Given the description of an element on the screen output the (x, y) to click on. 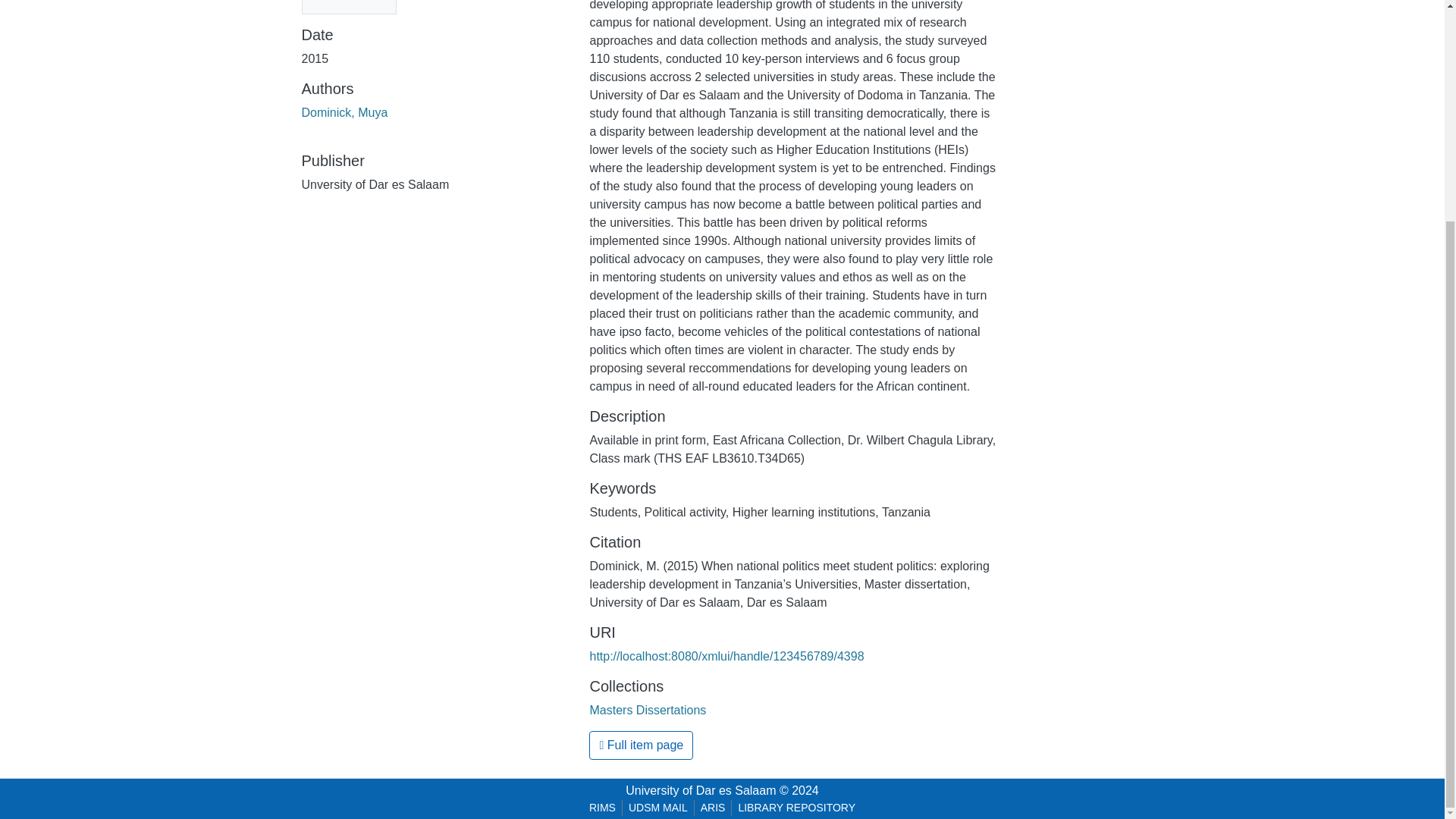
LIBRARY REPOSITORY (796, 807)
Masters Dissertations (647, 709)
Dominick, Muya (344, 112)
UDSM MAIL (658, 807)
ARIS (713, 807)
Full item page (641, 745)
RIMS (602, 807)
